Given the description of an element on the screen output the (x, y) to click on. 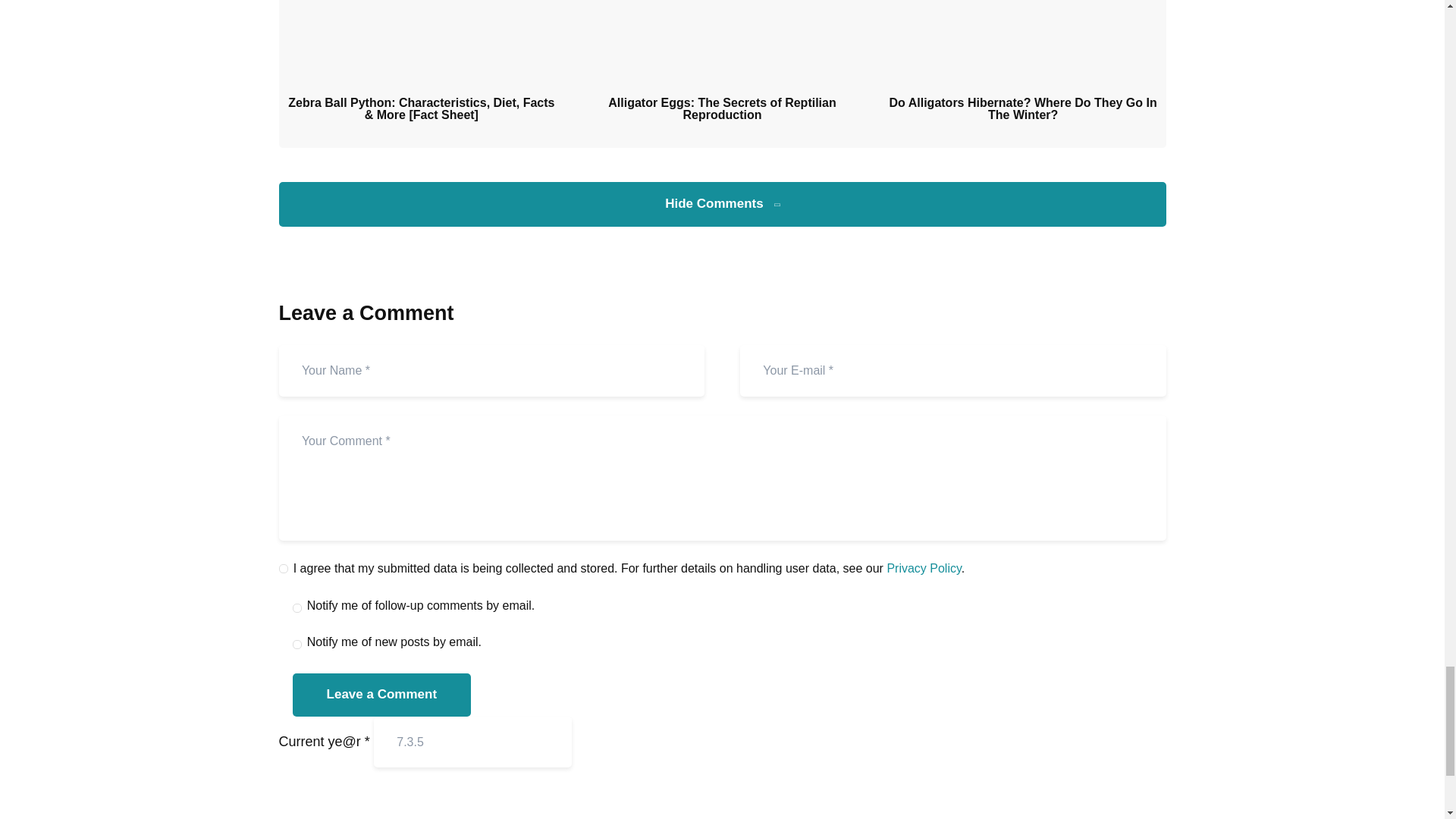
subscribe (297, 637)
Leave a Comment (381, 694)
7.3.5 (473, 741)
subscribe (297, 601)
